Given the description of an element on the screen output the (x, y) to click on. 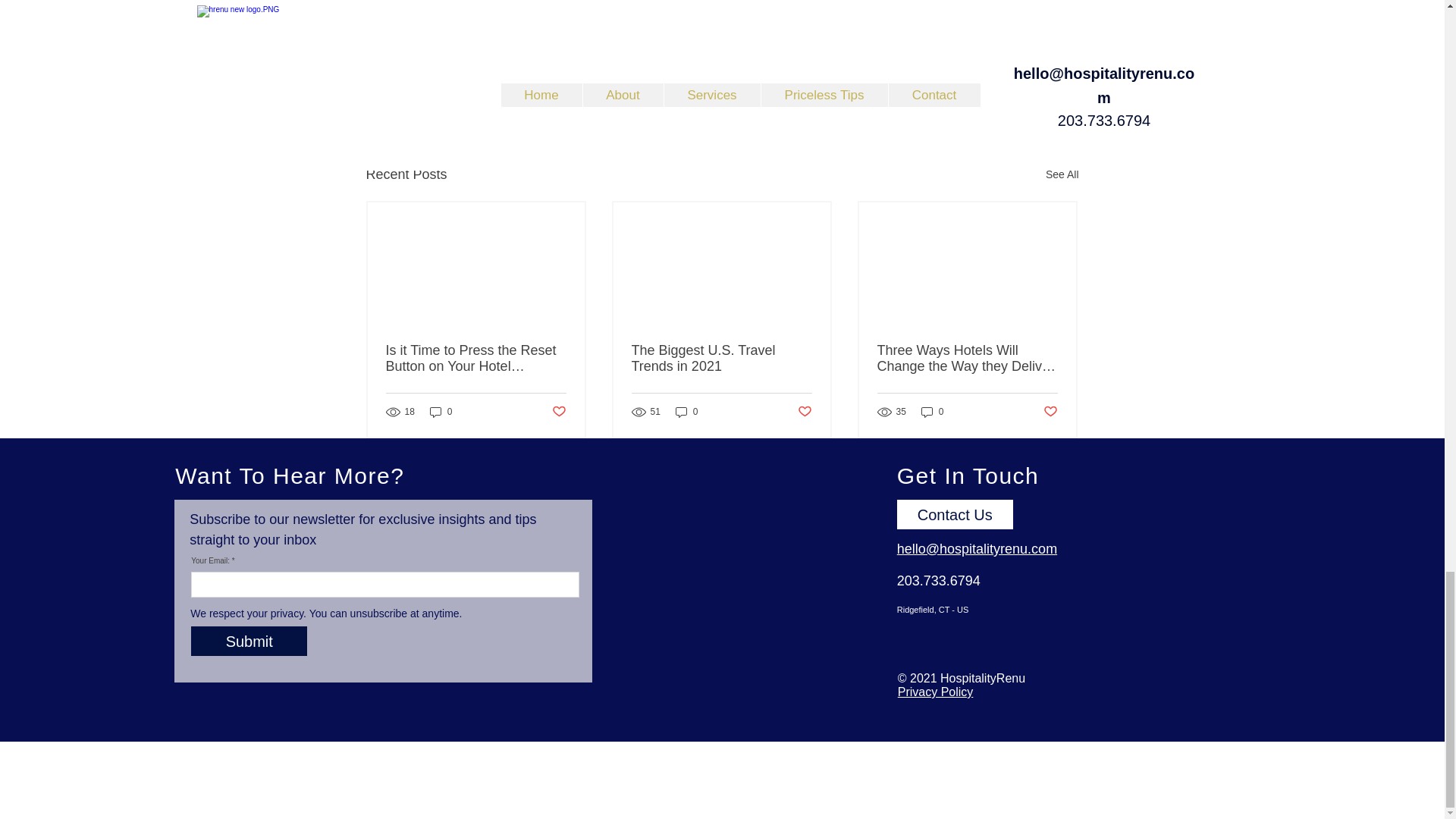
Contact Us (954, 514)
0 (687, 411)
Post not marked as liked (1050, 412)
The Biggest U.S. Travel Trends in 2021 (720, 358)
Post not marked as liked (804, 412)
Post not marked as liked (558, 412)
Submit (248, 641)
0 (441, 411)
